Given the description of an element on the screen output the (x, y) to click on. 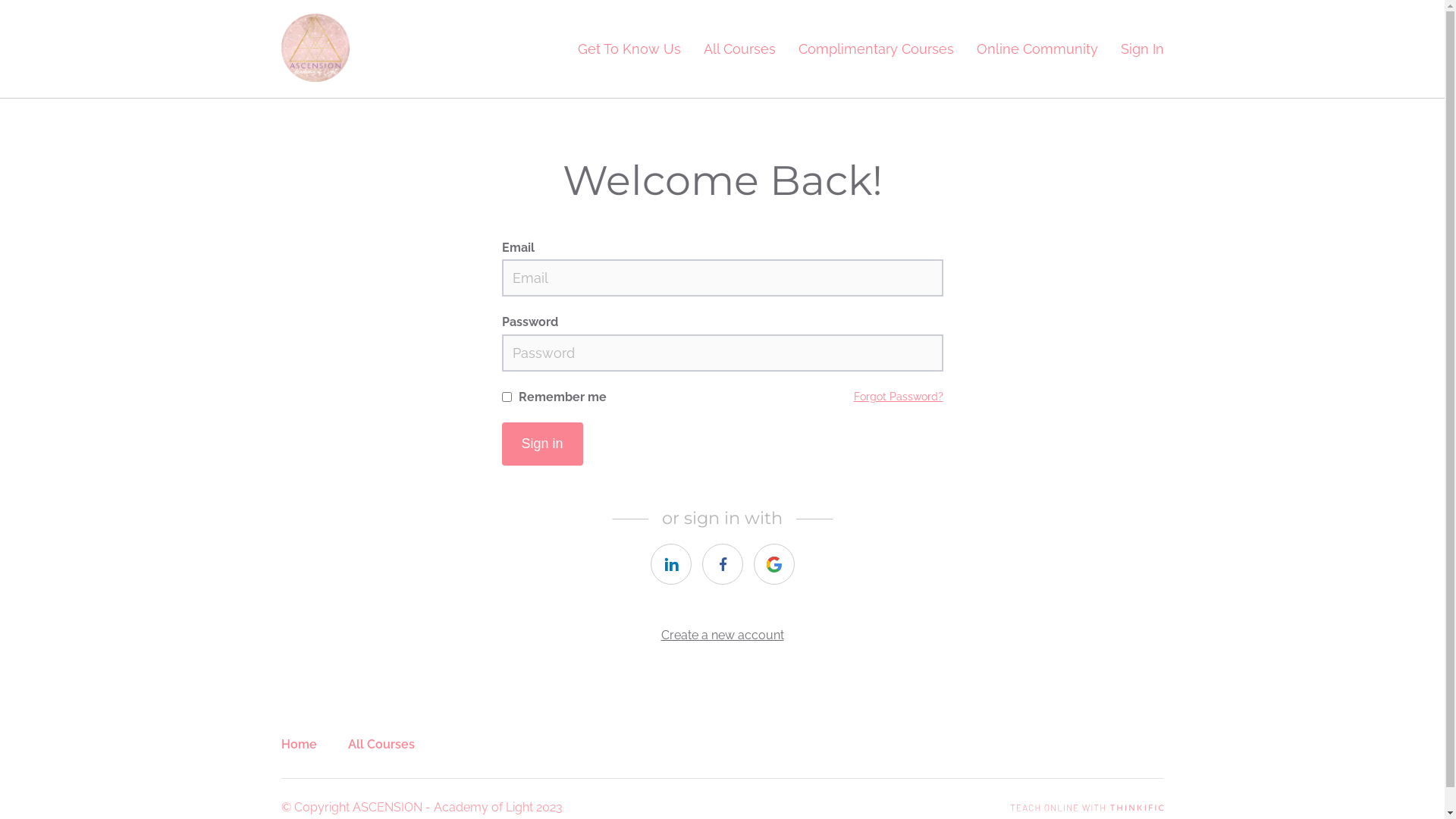
Create a new account Element type: text (722, 634)
Home Element type: text (298, 744)
ASCENSION - Academy of Light Element type: text (314, 47)
All Courses Element type: text (380, 744)
All Courses Element type: text (739, 48)
Online Community Element type: text (1037, 48)
Sign In Element type: text (1142, 48)
Sign in Element type: text (542, 443)
Complimentary Courses Element type: text (875, 48)
Teach online with Thinkific
Open in a new window Element type: text (1087, 807)
Forgot Password? Element type: text (898, 396)
Get To Know Us Element type: text (628, 48)
